Given the description of an element on the screen output the (x, y) to click on. 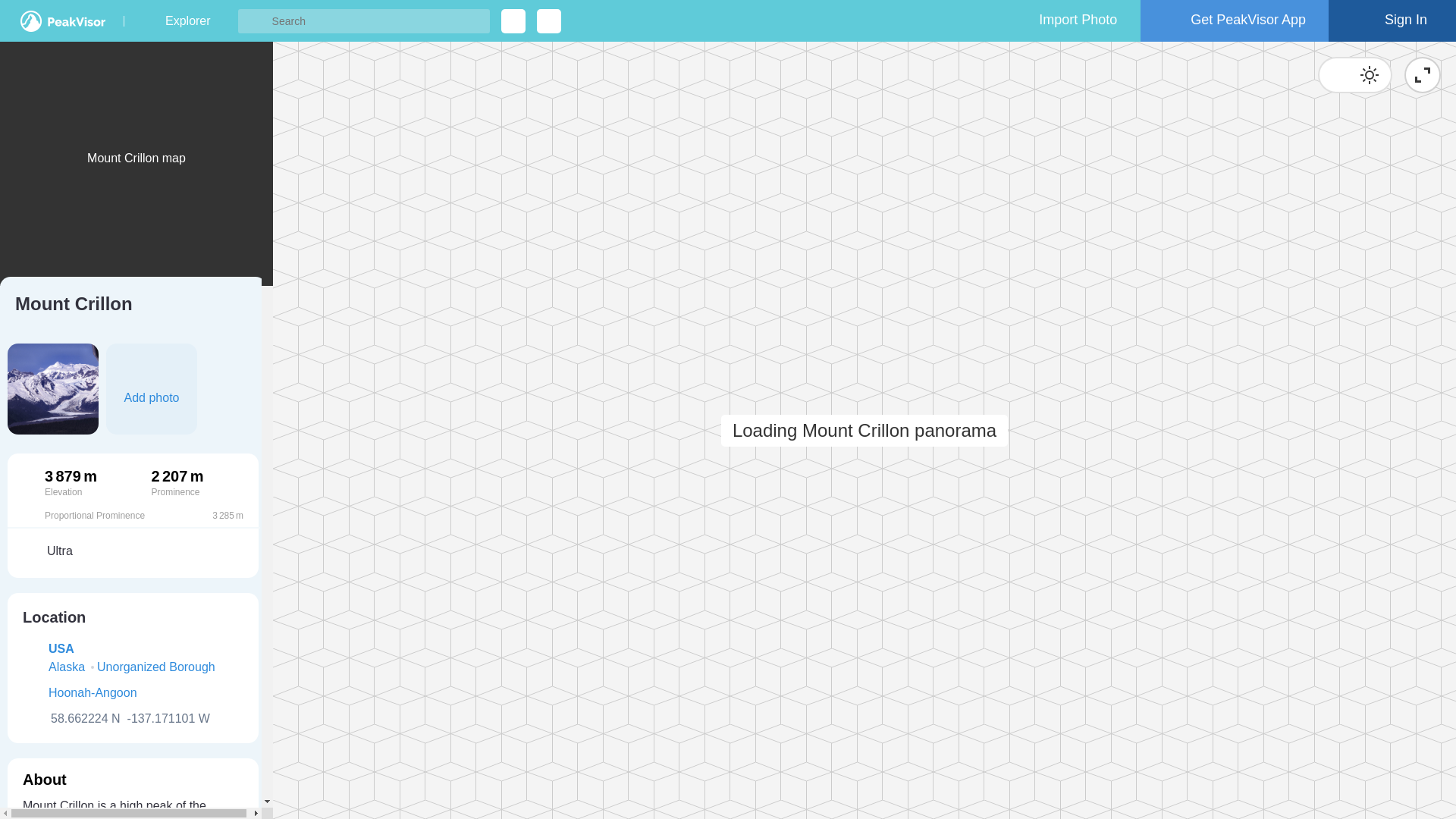
Alaska (66, 667)
PeakVisor (62, 20)
Hoonah-Angoon (92, 692)
USA (61, 648)
Explorer (186, 20)
Unorganized Borough (156, 667)
Import Photo (1064, 20)
Ultra (133, 550)
